Given the description of an element on the screen output the (x, y) to click on. 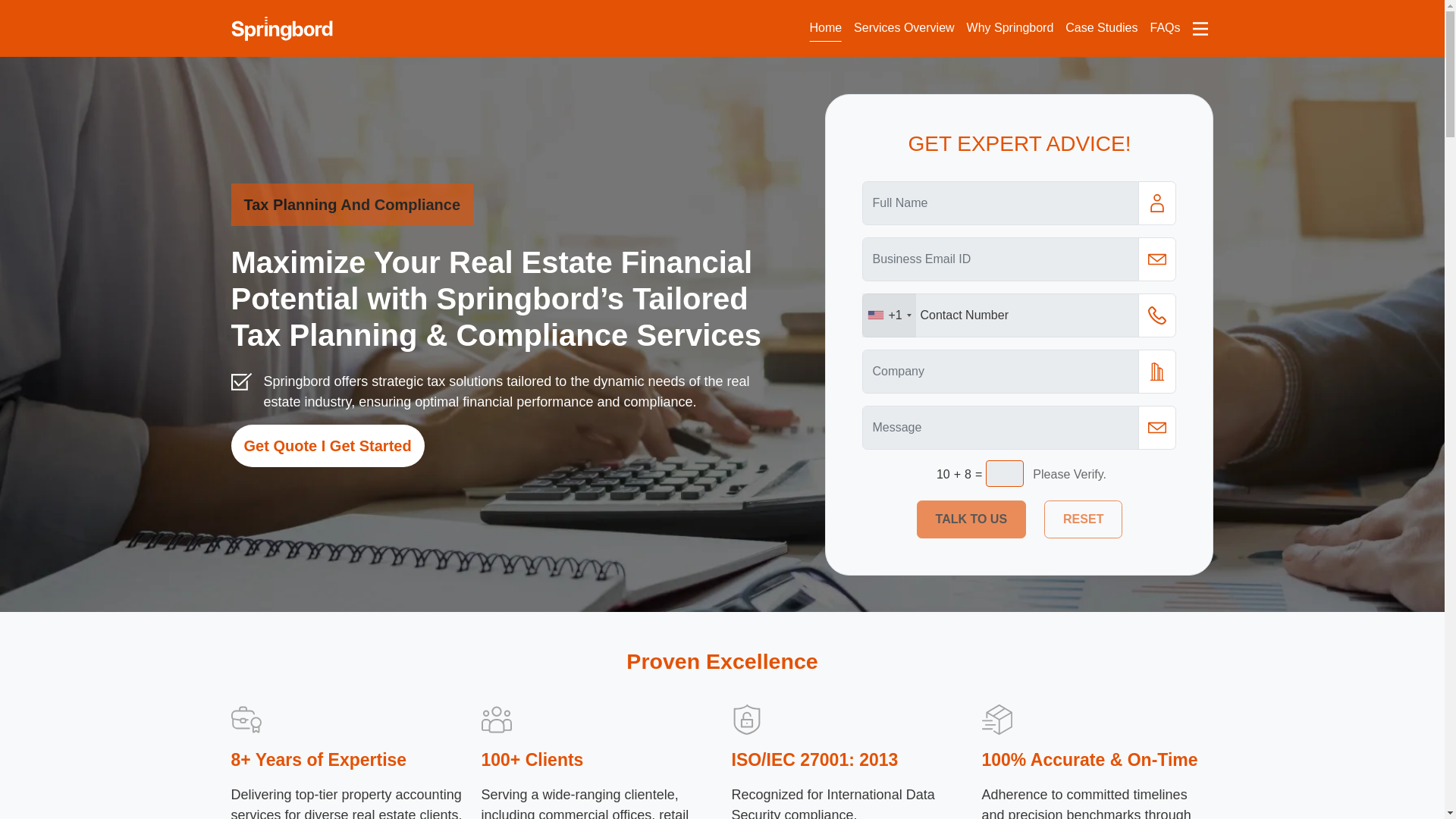
Services Overview (903, 28)
FAQs (1164, 28)
Case Studies (1100, 28)
Why Springbord (1009, 28)
